Given the description of an element on the screen output the (x, y) to click on. 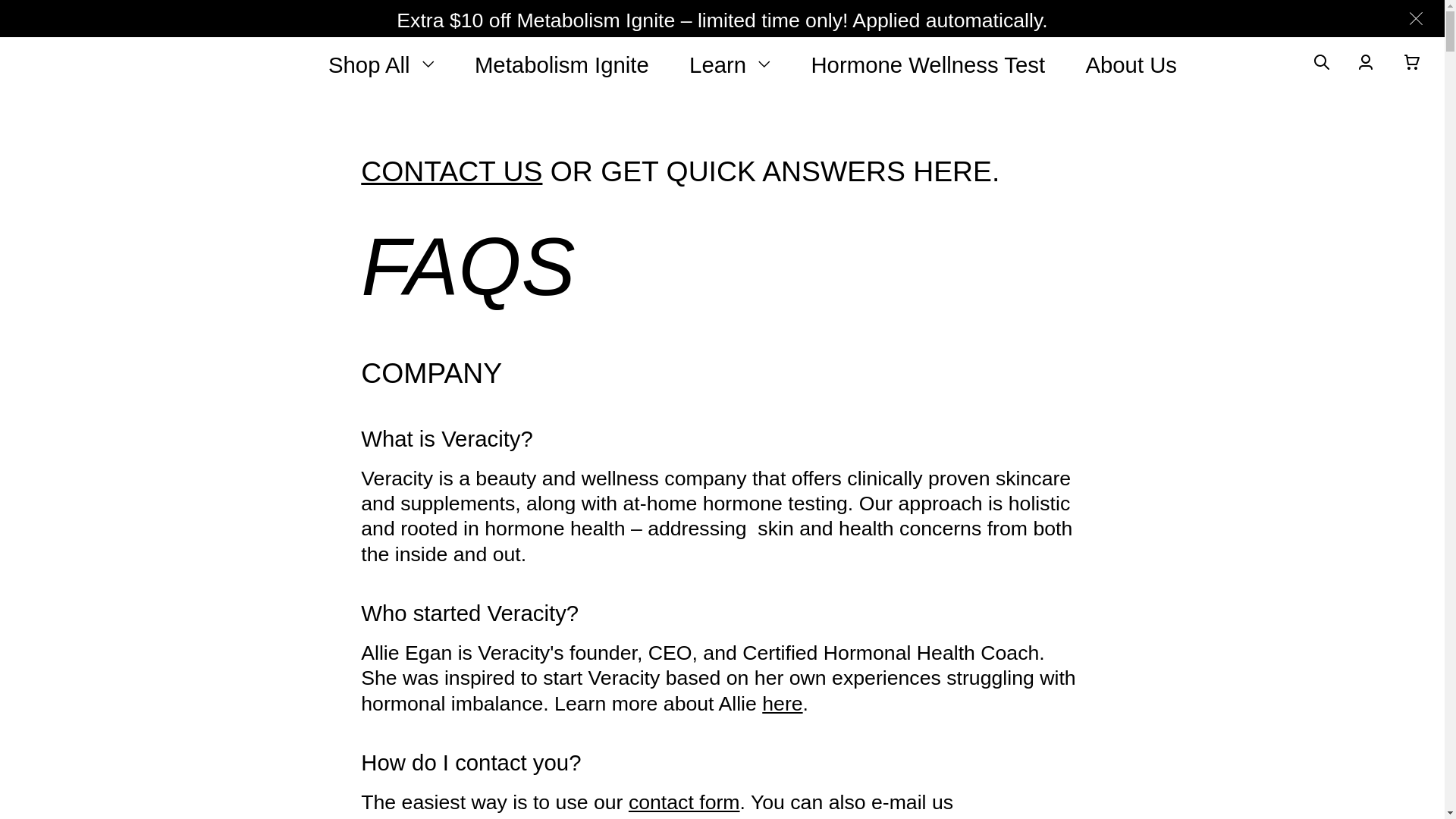
Veracity Selfcare (111, 64)
Hormone Wellness Test (927, 64)
Search (1323, 64)
Account (1368, 64)
Learn (729, 64)
Metabolism Ignite (561, 64)
Cart (1415, 64)
Shop All (381, 64)
About Us (1130, 64)
